Given the description of an element on the screen output the (x, y) to click on. 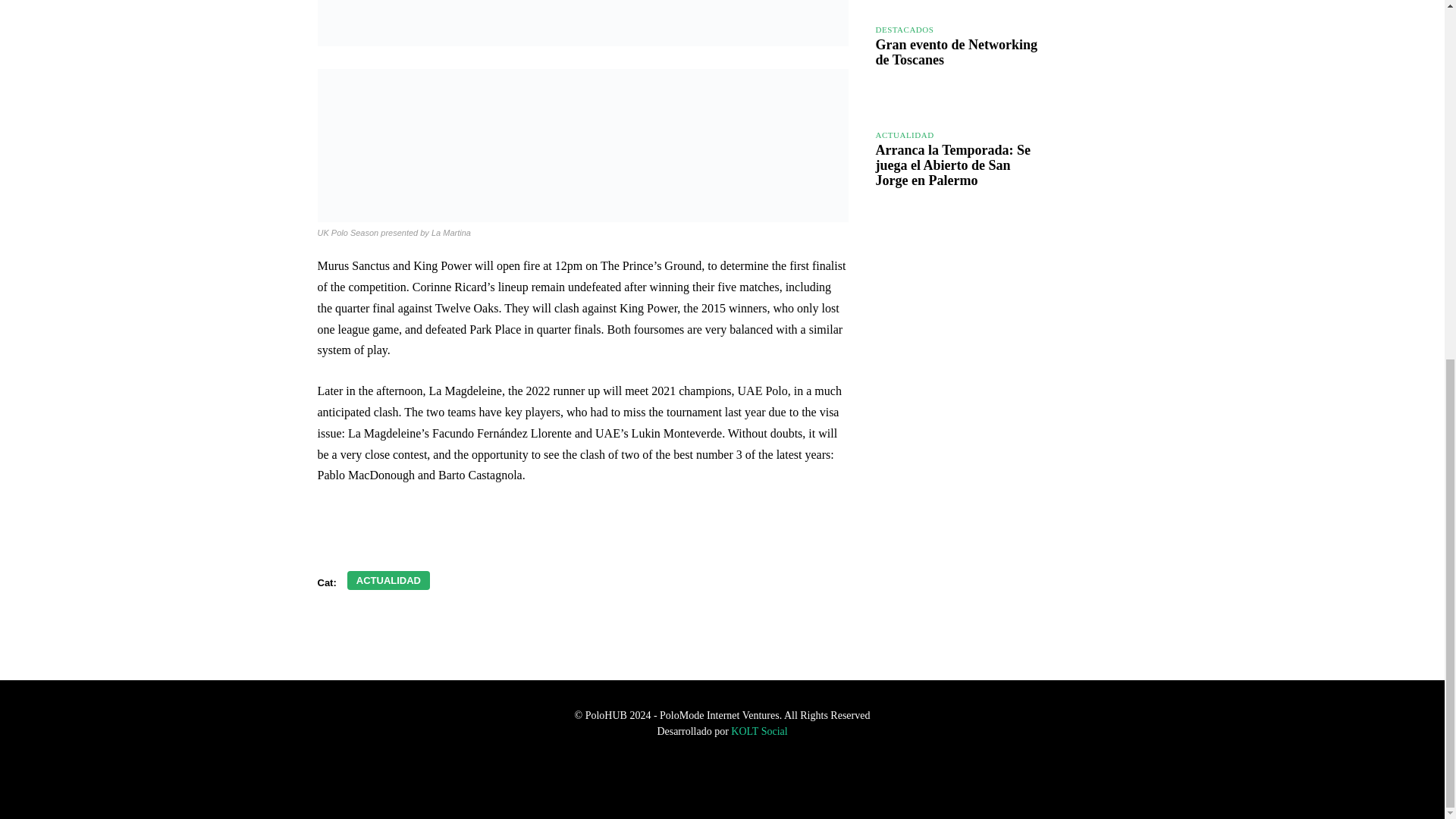
ACTUALIDAD (388, 579)
DESTACADOS (904, 29)
Gran evento de Networking de Toscanes (955, 51)
KOLT Social (758, 731)
Gran evento de Networking de Toscanes (1088, 66)
ACTUALIDAD (904, 135)
